Given the description of an element on the screen output the (x, y) to click on. 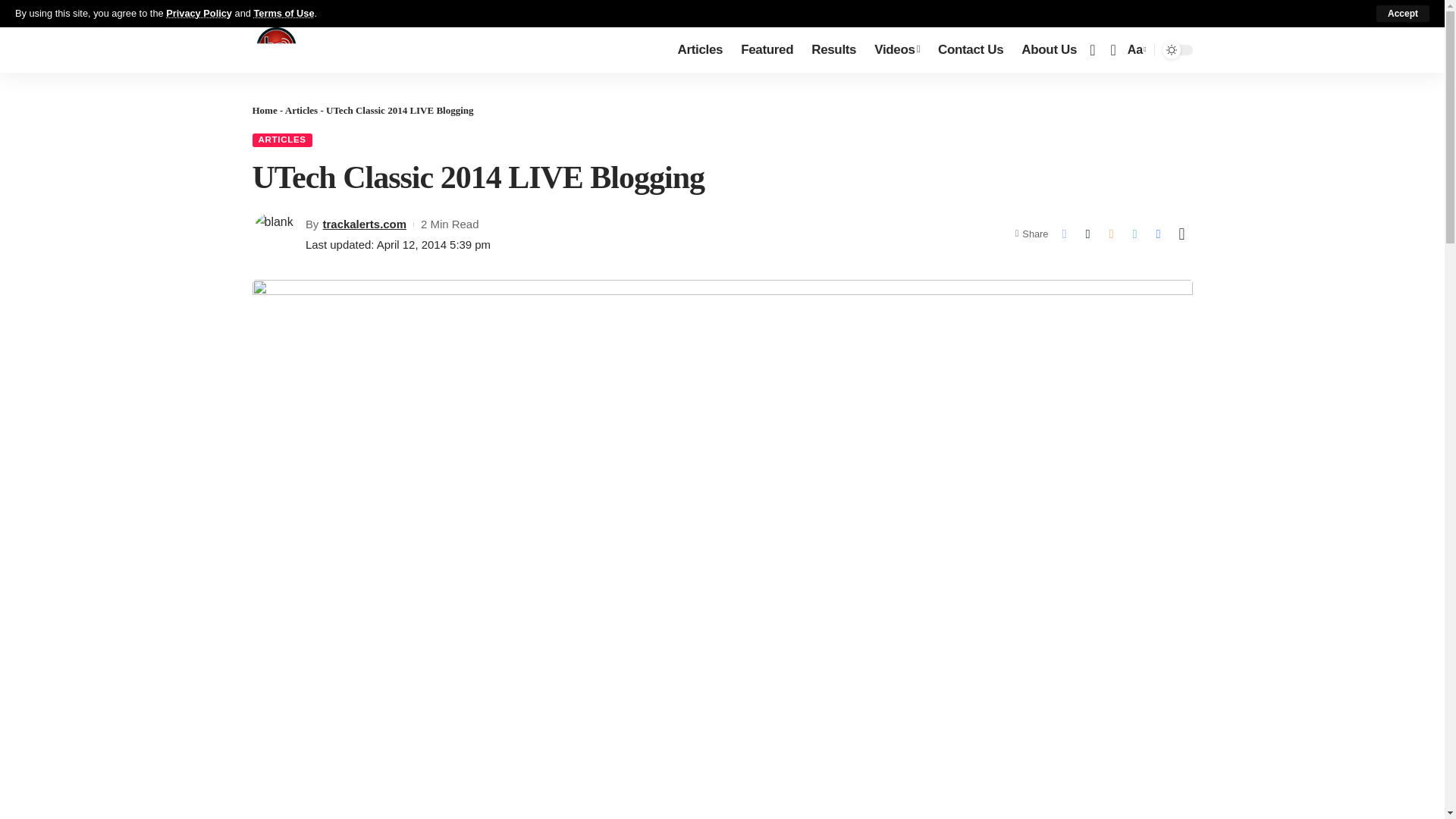
Accept (1402, 13)
Videos (896, 49)
About Us (1048, 49)
Trackalerts.com, track and field news website (275, 49)
Aa (1135, 49)
Results (833, 49)
Contact Us (969, 49)
Articles (700, 49)
Terms of Use (283, 12)
Privacy Policy (198, 12)
